Given the description of an element on the screen output the (x, y) to click on. 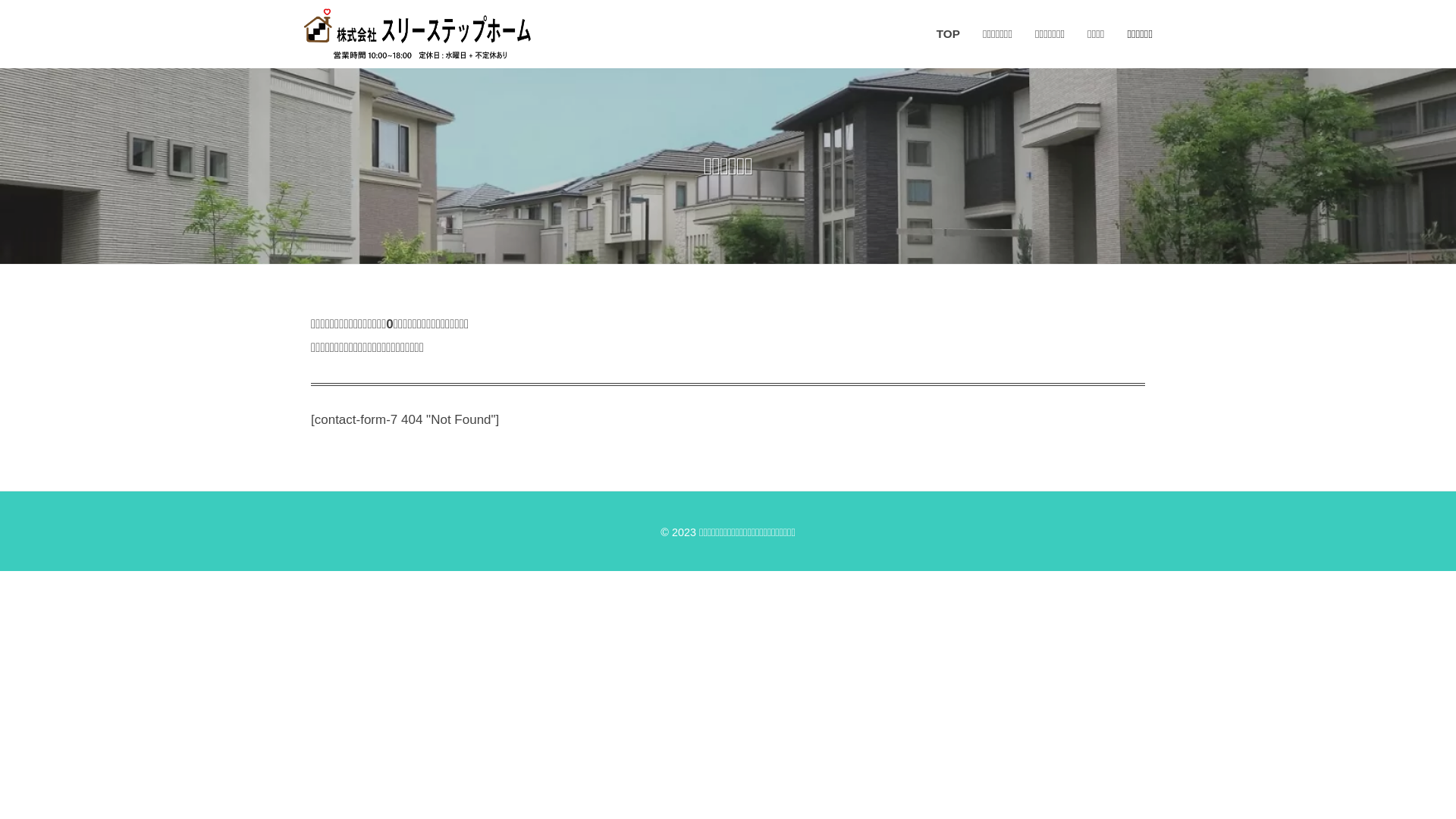
TOP Element type: text (953, 33)
